Given the description of an element on the screen output the (x, y) to click on. 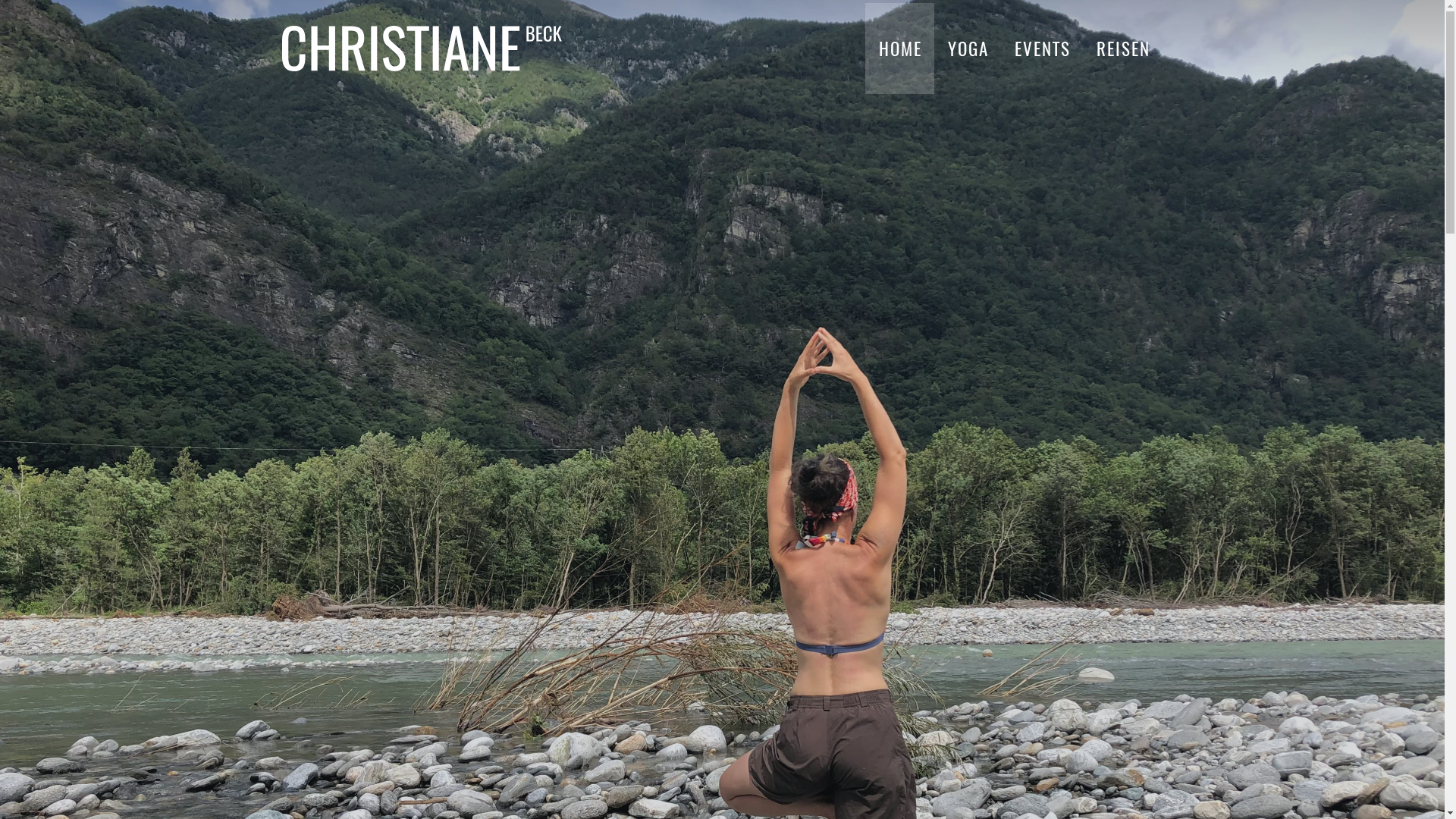
REISEN Element type: text (1122, 48)
HOME Element type: text (899, 48)
YOGA Element type: text (967, 48)
EVENTS Element type: text (1041, 48)
